Given the description of an element on the screen output the (x, y) to click on. 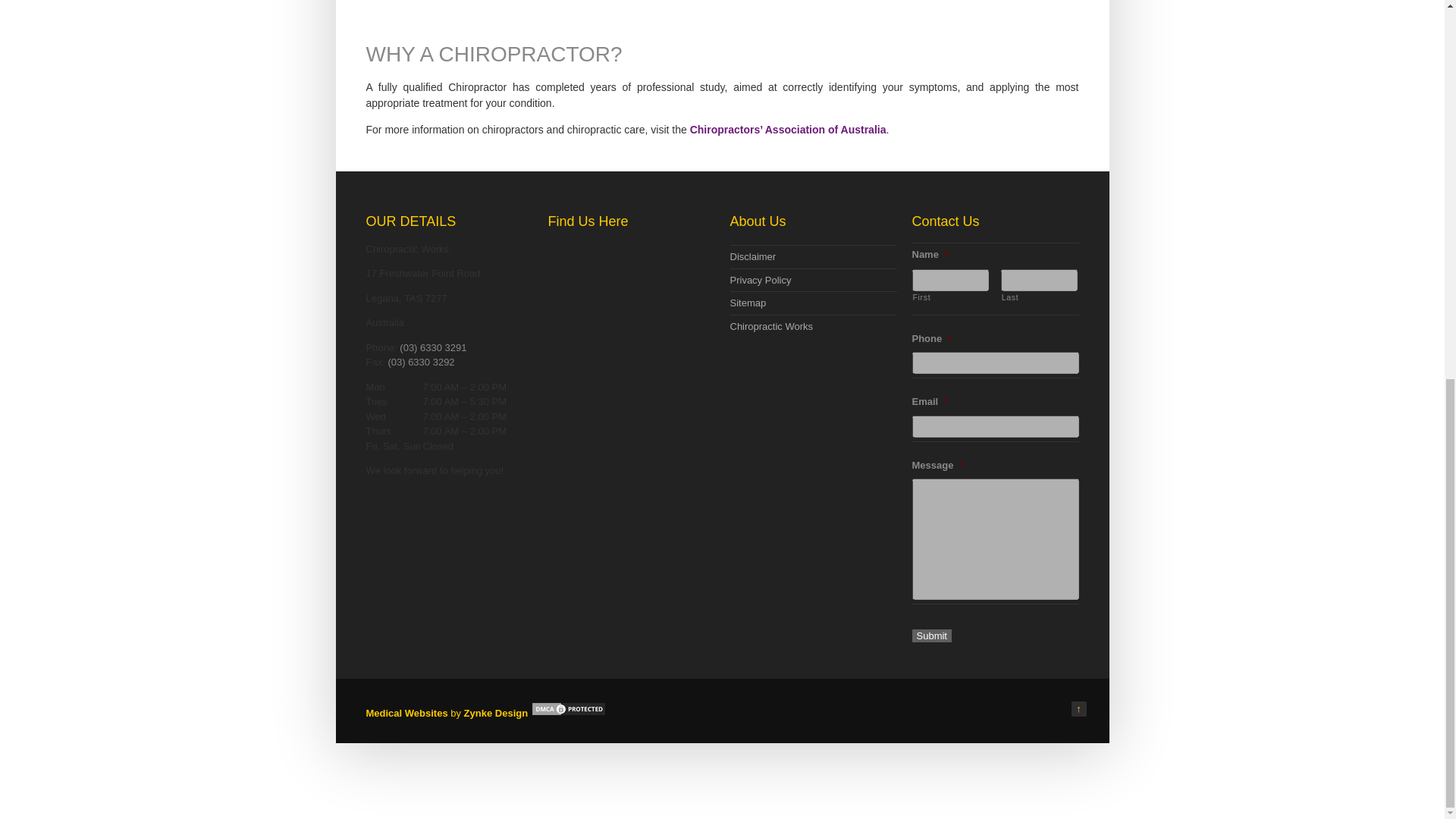
Medical Websites (407, 713)
DMCA.com Protection Status (569, 713)
Privacy Policy (759, 279)
Zynke Design (496, 713)
Disclaimer (752, 256)
by (456, 713)
Submit (930, 635)
Sitemap (747, 302)
Chiropractic Works (770, 326)
Submit (930, 635)
